Given the description of an element on the screen output the (x, y) to click on. 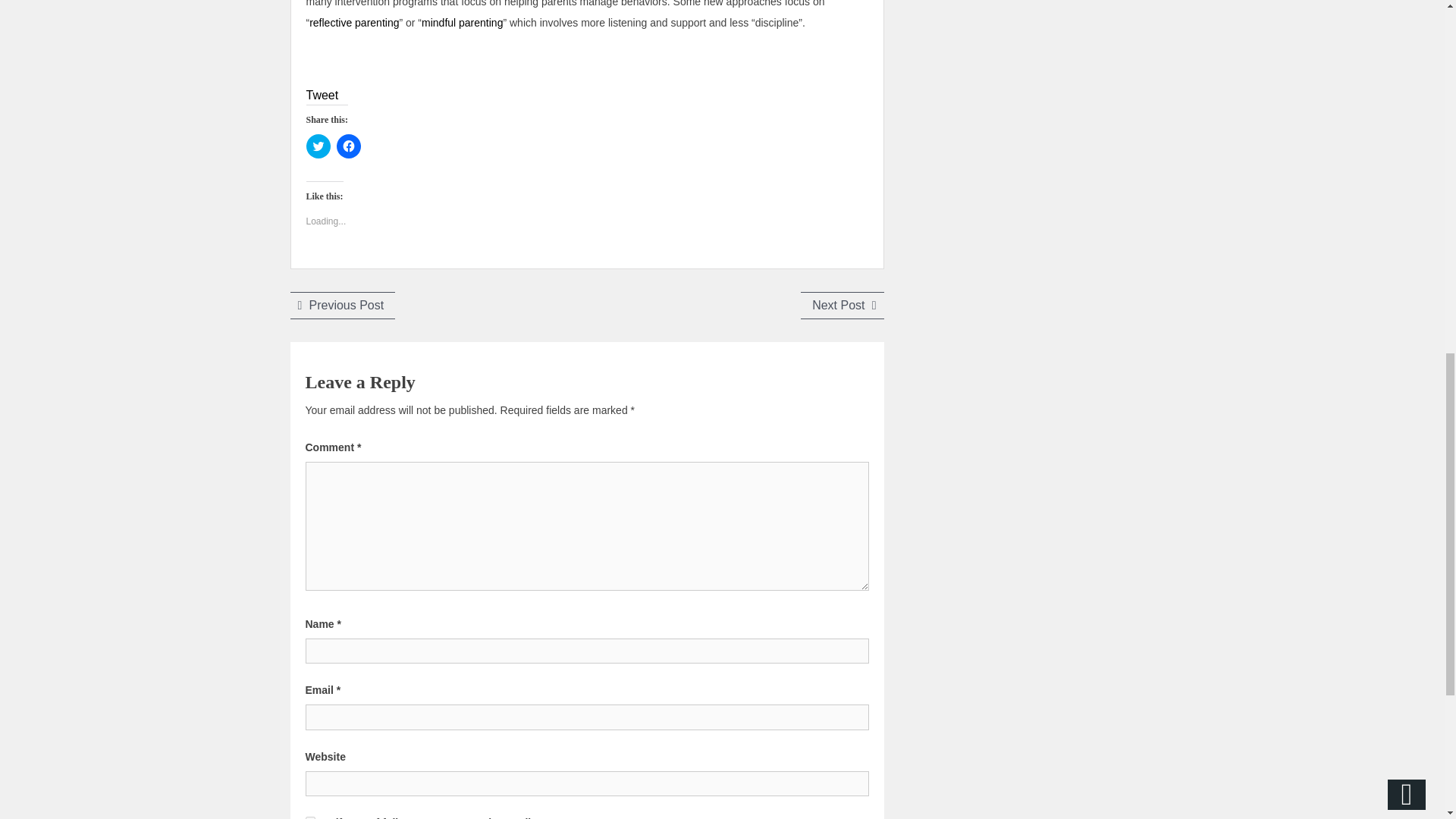
Click to share on Facebook (348, 146)
Tweet (322, 94)
reflective parenting (353, 22)
mindful parenting (462, 22)
Click to share on Twitter (841, 304)
